Given the description of an element on the screen output the (x, y) to click on. 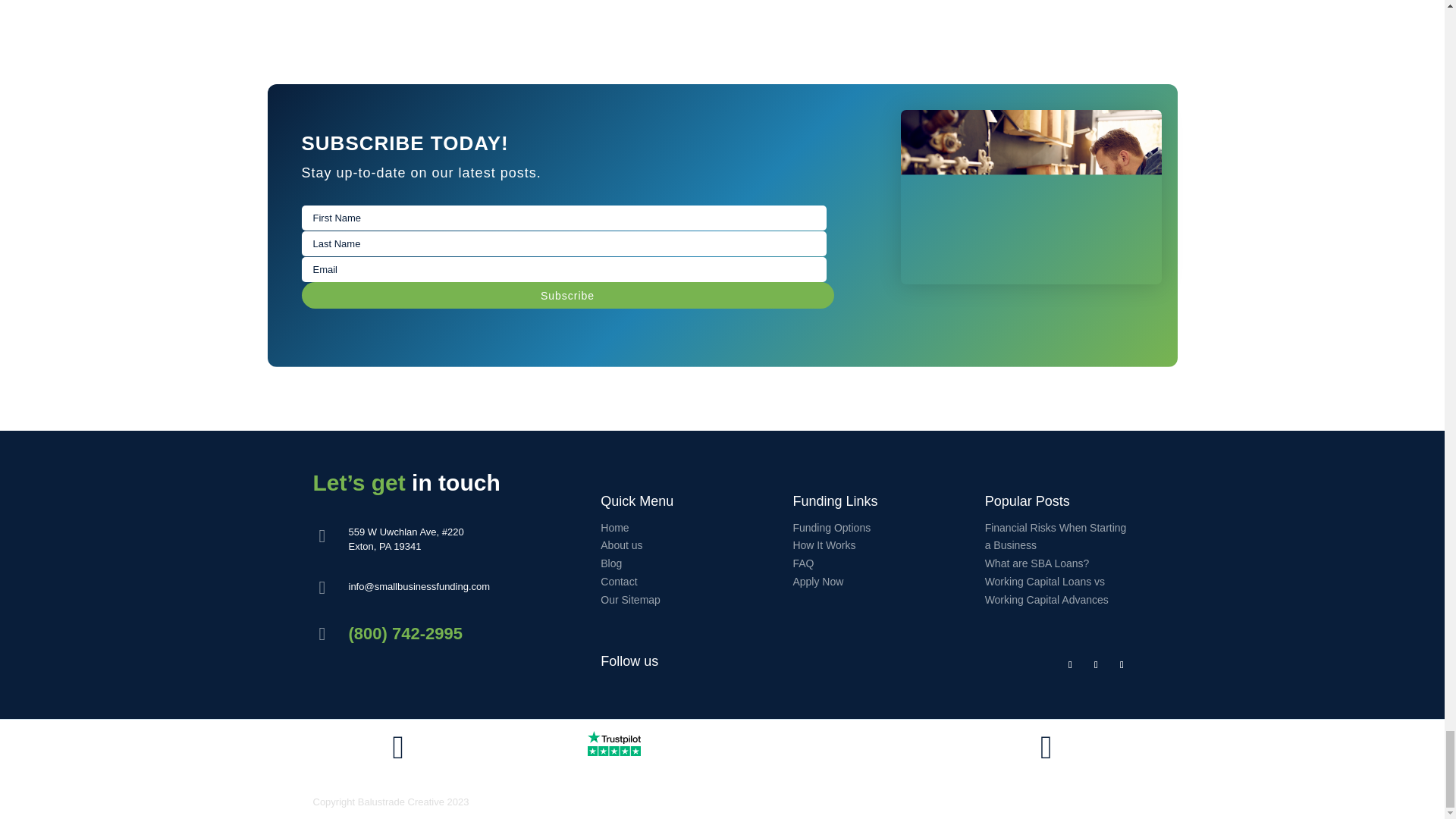
Best-banks (397, 754)
Follow on Facebook (1069, 664)
Follow on Instagram (1095, 664)
Home (613, 527)
Best-banks (1046, 754)
About us (620, 544)
smb owner male 2 (1031, 196)
Subscribe (567, 294)
Follow on LinkedIn (1121, 664)
Exton, PA 19341 (385, 546)
